Given the description of an element on the screen output the (x, y) to click on. 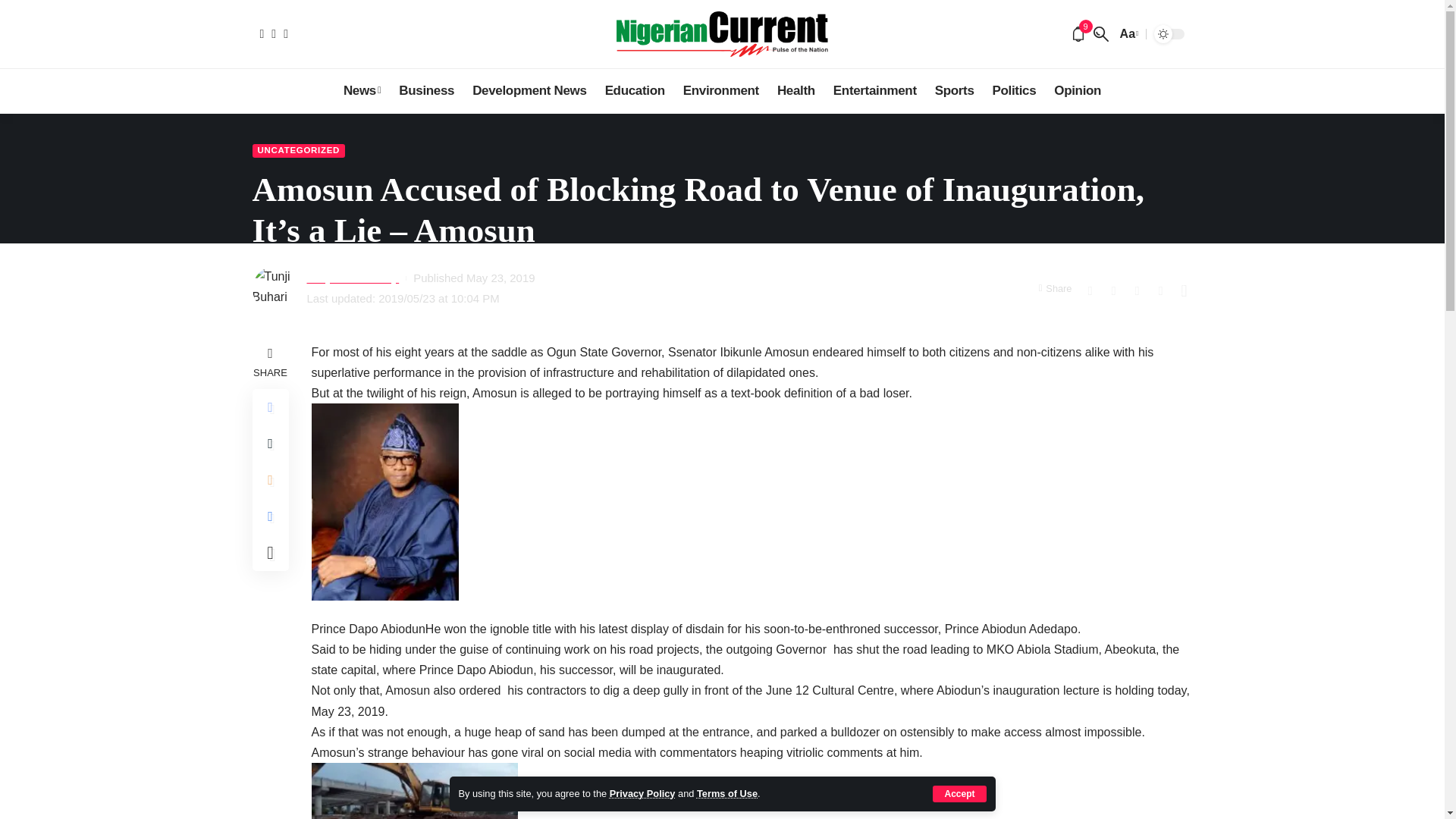
Terms of Use (727, 793)
Nigerian Current (721, 33)
9 (1078, 33)
Privacy Policy (642, 793)
Accept (959, 793)
